Given the description of an element on the screen output the (x, y) to click on. 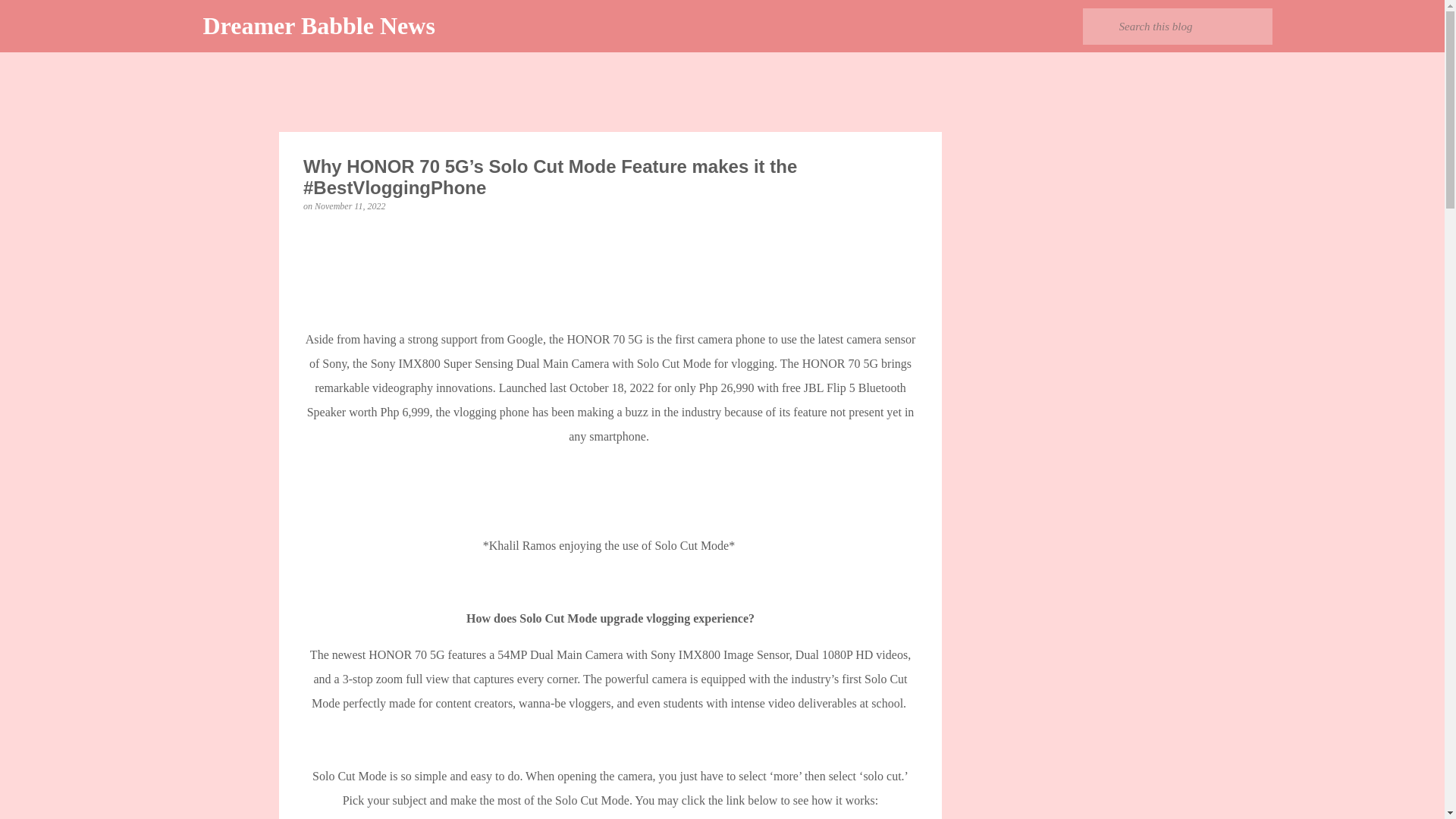
Dreamer Babble News (319, 25)
November 11, 2022 (349, 205)
permanent link (349, 205)
